Given the description of an element on the screen output the (x, y) to click on. 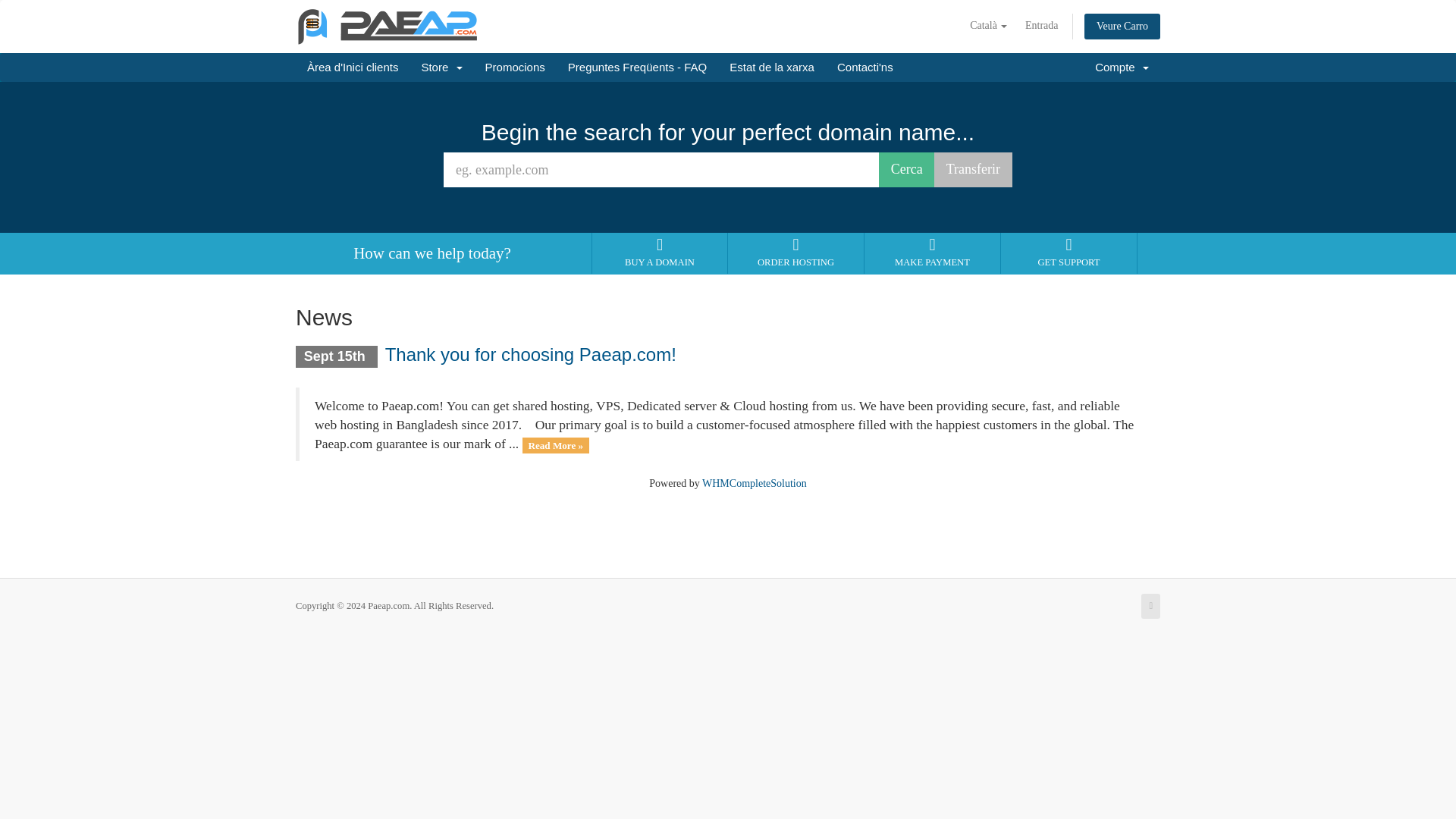
Veure Carro (1122, 26)
Required (661, 169)
Cerca (906, 169)
Cerca (906, 169)
Transferir (972, 169)
Store   (441, 67)
Entrada (1041, 25)
